Given the description of an element on the screen output the (x, y) to click on. 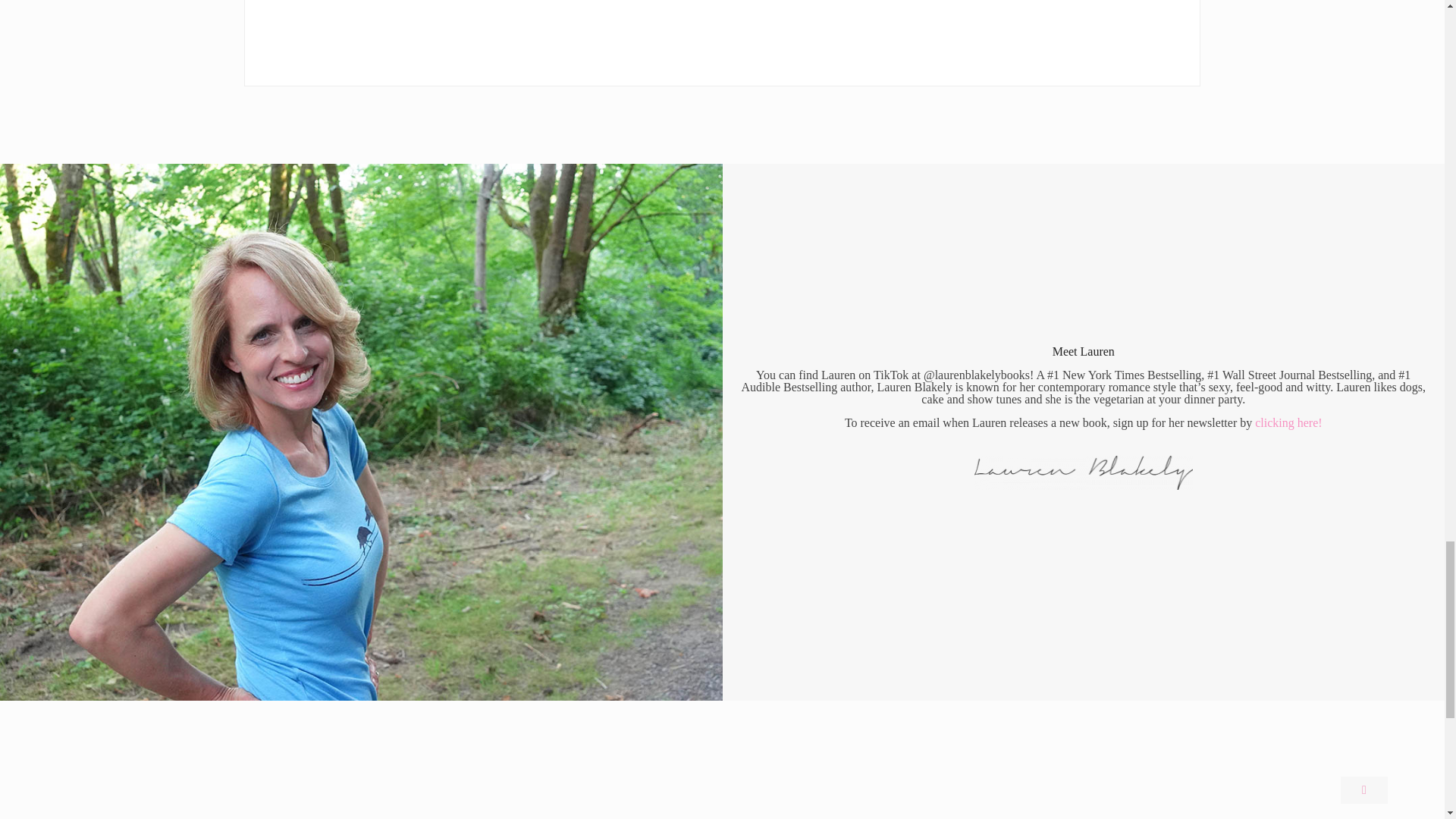
clicking here! (1288, 422)
